Given the description of an element on the screen output the (x, y) to click on. 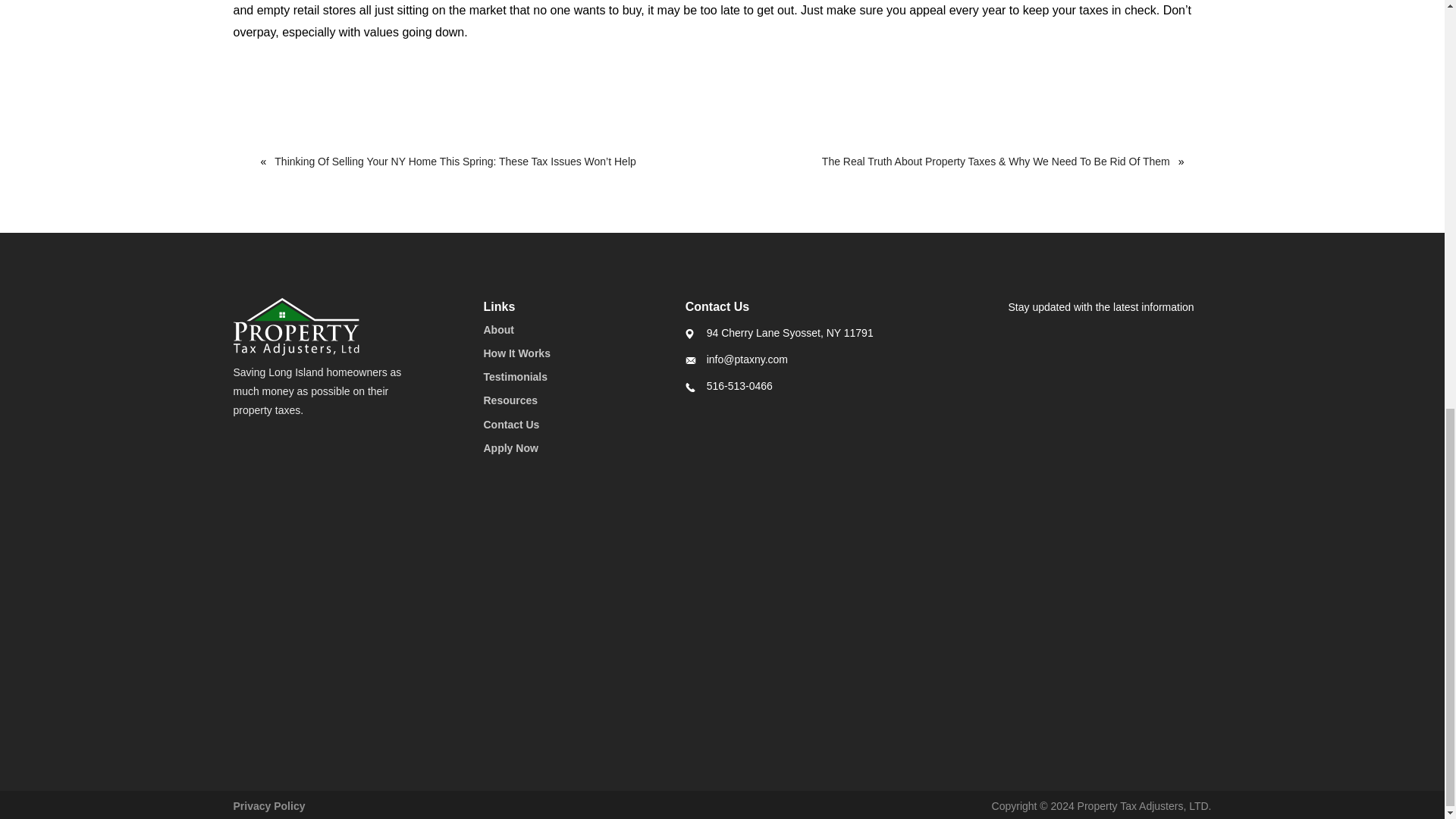
Contact Us (511, 424)
Privacy Policy (268, 806)
How It Works (516, 353)
Apply Now (510, 448)
About (498, 329)
516-513-0466 (739, 386)
Resources (510, 399)
Testimonials (515, 377)
